Given the description of an element on the screen output the (x, y) to click on. 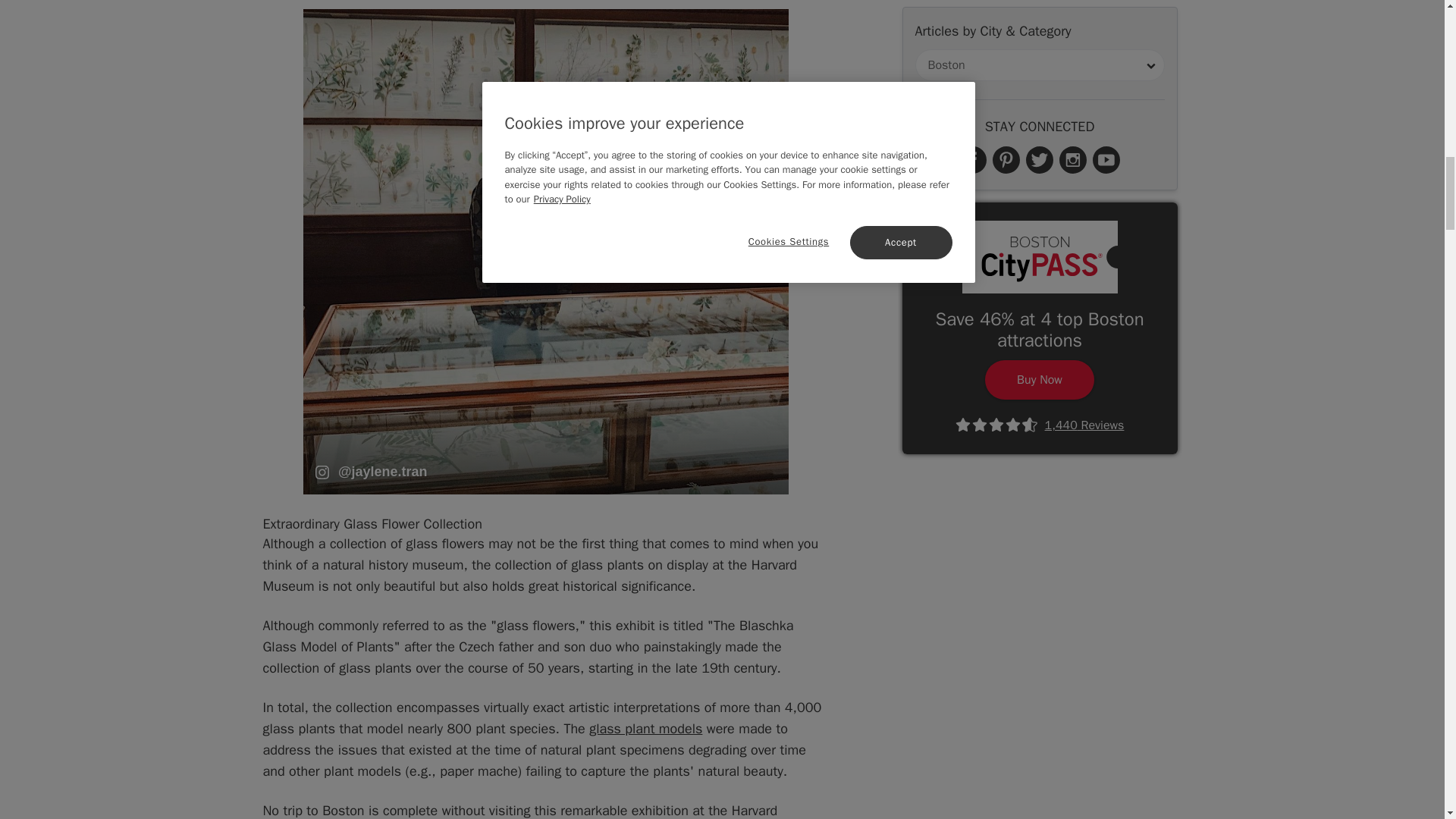
glass plant models (645, 728)
